Given the description of an element on the screen output the (x, y) to click on. 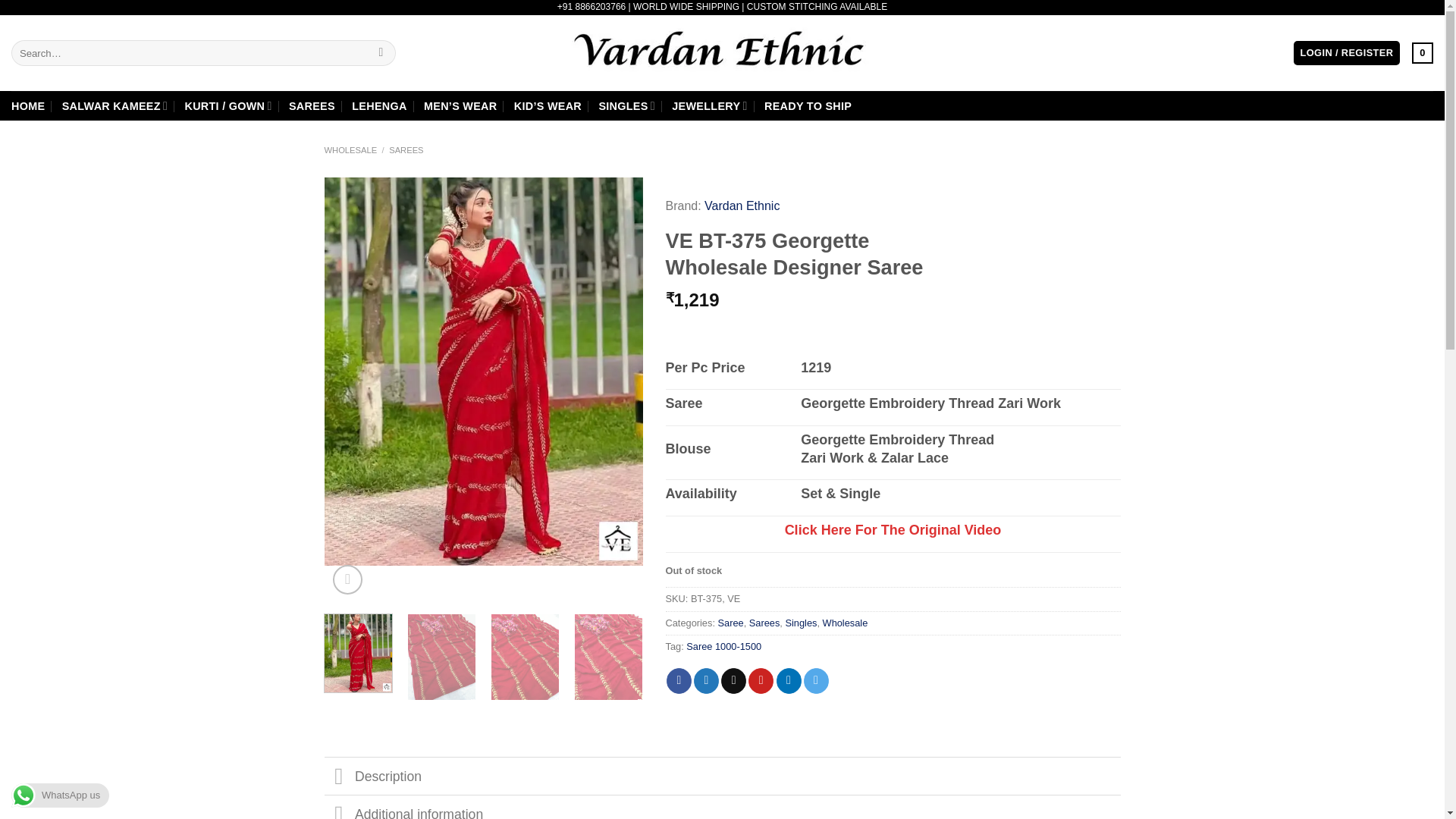
Email to a Friend (732, 680)
WHOLESALE (350, 149)
READY TO SHIP (807, 105)
Share on Telegram (815, 680)
Share on LinkedIn (789, 680)
SAREES (311, 105)
Pin on Pinterest (760, 680)
Search (380, 53)
Share on Facebook (678, 680)
JEWELLERY (708, 105)
HOME (28, 105)
SAREES (405, 149)
LEHENGA (379, 105)
Zoom (347, 579)
SINGLES (626, 105)
